Given the description of an element on the screen output the (x, y) to click on. 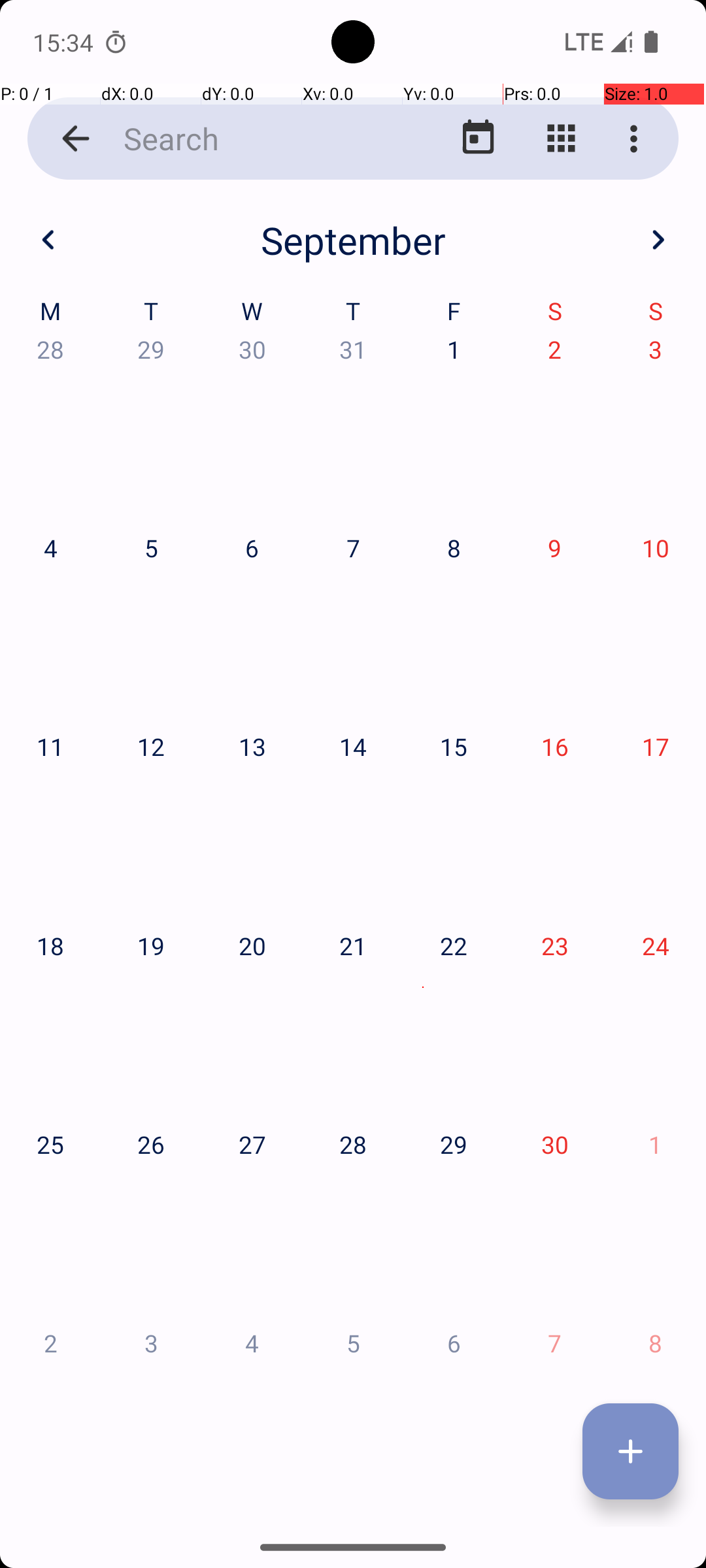
JANUARY Element type: android.widget.TextView (123, 319)
FEBRUARY Element type: android.widget.TextView (352, 319)
MARCH Element type: android.widget.TextView (582, 319)
APRIL Element type: android.widget.TextView (123, 621)
MAY Element type: android.widget.TextView (352, 621)
JUNE Element type: android.widget.TextView (582, 621)
JULY Element type: android.widget.TextView (123, 923)
AUGUST Element type: android.widget.TextView (352, 923)
SEPTEMBER Element type: android.widget.TextView (582, 923)
NOVEMBER Element type: android.widget.TextView (352, 1224)
DECEMBER Element type: android.widget.TextView (582, 1224)
September Element type: android.widget.TextView (352, 239)
